Given the description of an element on the screen output the (x, y) to click on. 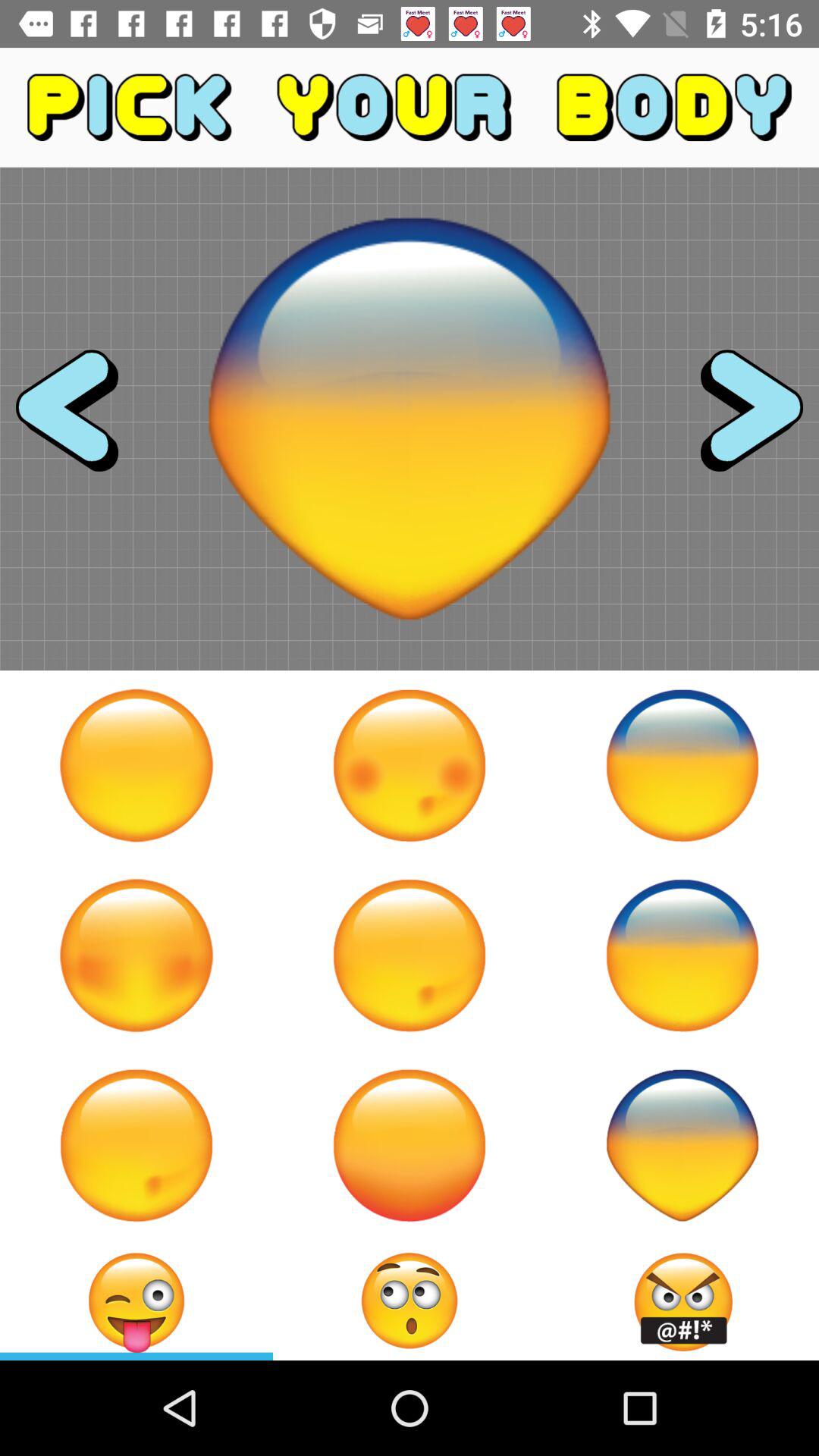
launch the icon at the top right corner (737, 418)
